Given the description of an element on the screen output the (x, y) to click on. 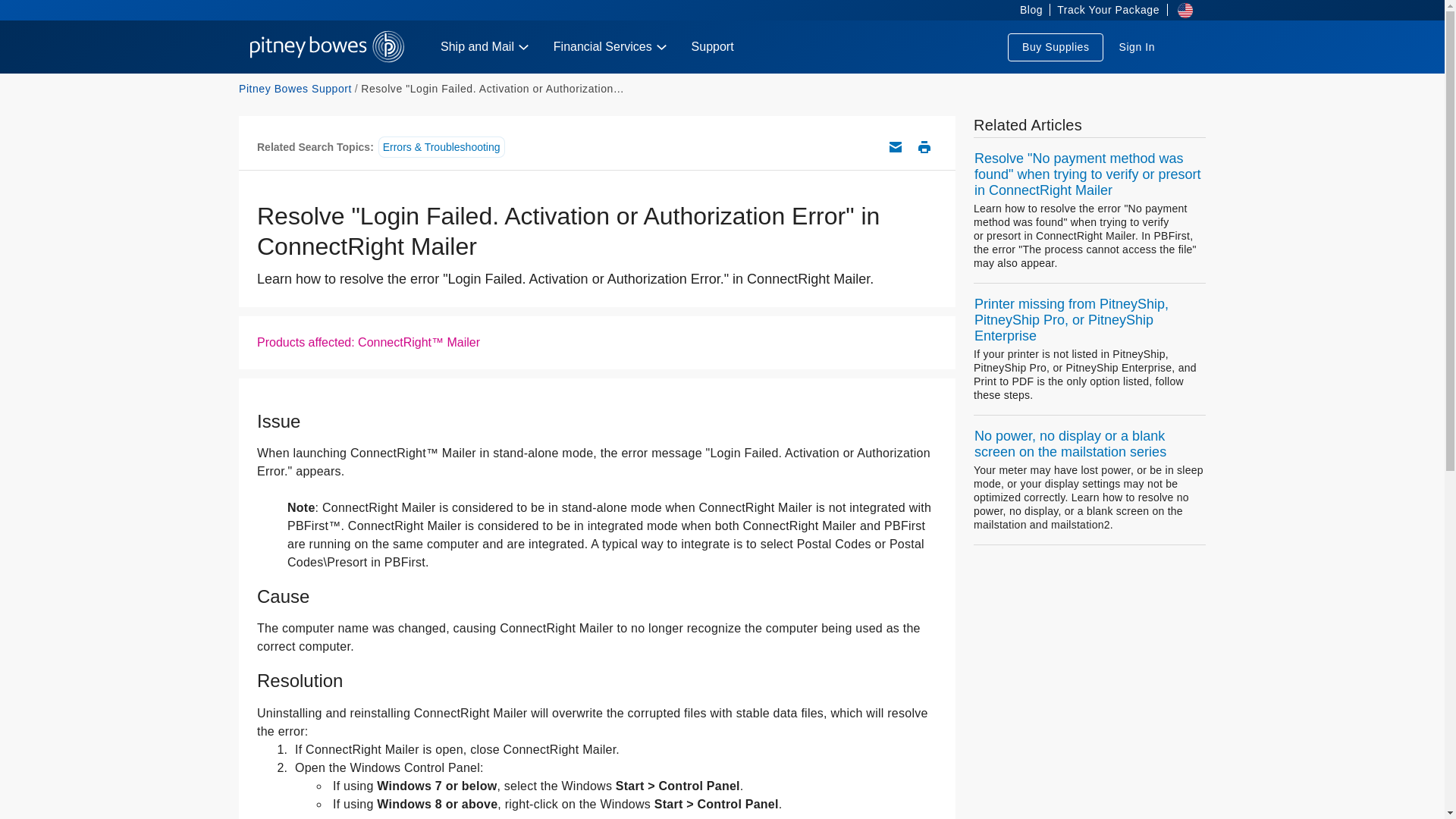
Sign In (1135, 46)
Ship and Mail (484, 46)
Pitney Bowes Support (295, 88)
Track Your Package (1107, 10)
Track Your Package (1107, 10)
Email this support article (895, 146)
Choose a region (1180, 10)
Resolve  (491, 88)
Blog (1026, 10)
Support (712, 46)
Blog (1026, 10)
US (327, 47)
Print this support article (924, 146)
Buy Supplies (1055, 46)
